Given the description of an element on the screen output the (x, y) to click on. 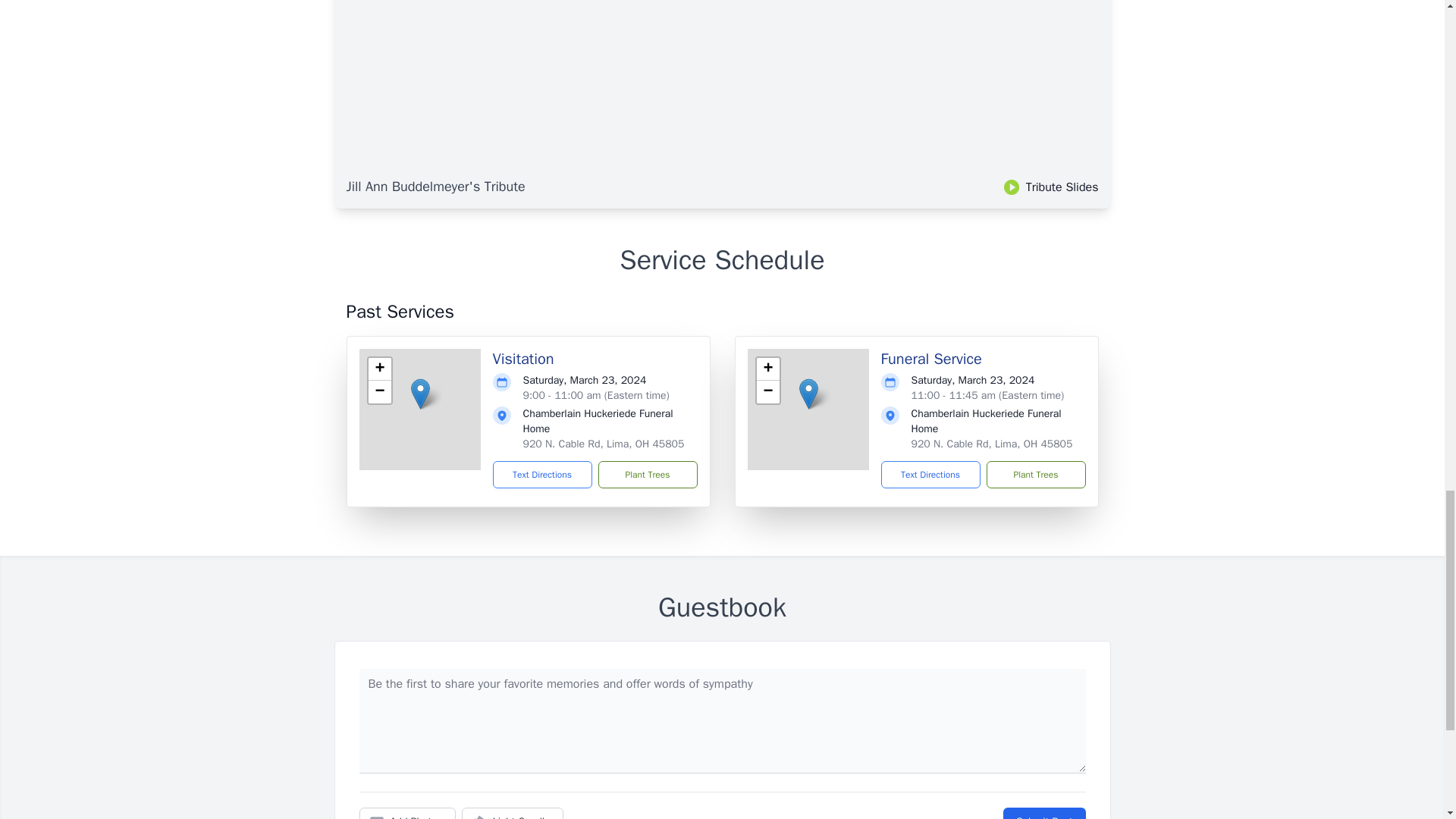
Submit Post (1043, 813)
Plant Trees (646, 474)
Zoom in (767, 368)
Light Candle (512, 813)
Zoom out (379, 391)
920 N. Cable Rd, Lima, OH 45805 (992, 443)
Zoom in (379, 368)
Text Directions (542, 474)
Zoom out (767, 391)
Add Photos (407, 813)
Text Directions (929, 474)
Plant Trees (1034, 474)
920 N. Cable Rd, Lima, OH 45805 (603, 443)
